Given the description of an element on the screen output the (x, y) to click on. 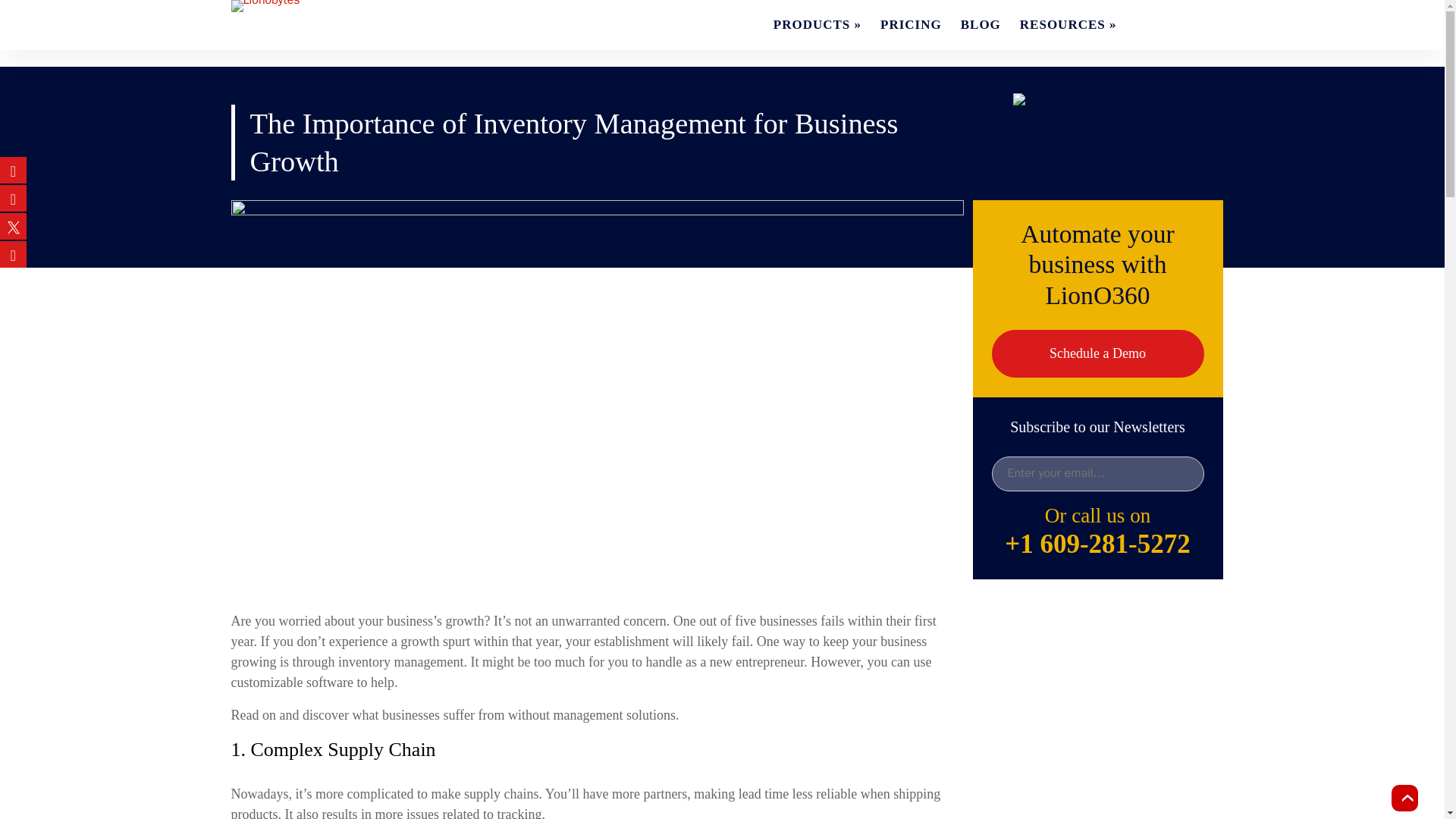
. (1152, 24)
PRICING (911, 24)
PRICING (911, 24)
